Given the description of an element on the screen output the (x, y) to click on. 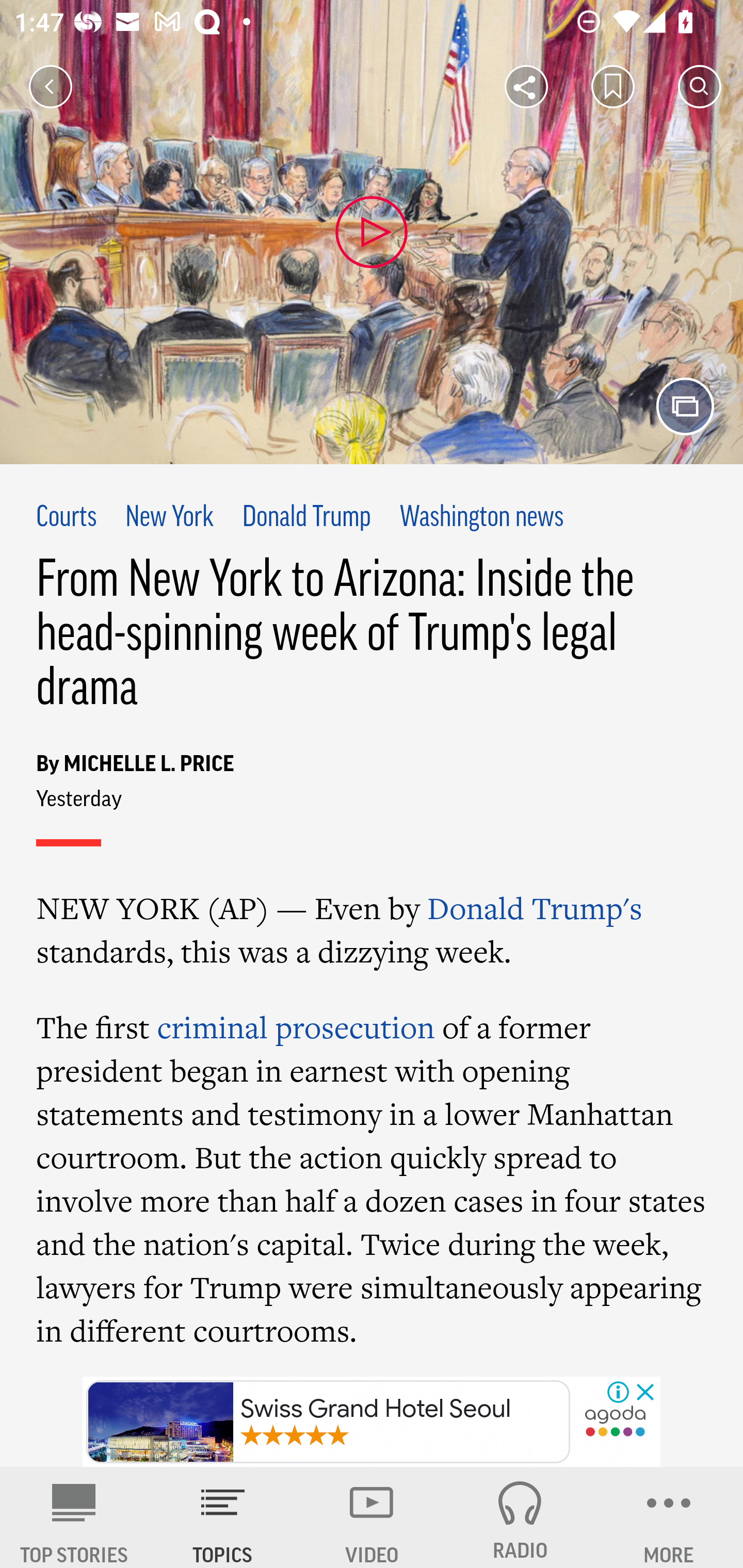
Courts (66, 518)
New York (169, 518)
Donald Trump (307, 518)
Washington news (481, 518)
Donald Trump's (534, 907)
criminal prosecution (294, 1026)
Swiss Grand Hotel Seoul (327, 1421)
partnersearch (615, 1422)
AP News TOP STORIES (74, 1517)
TOPICS (222, 1517)
VIDEO (371, 1517)
RADIO (519, 1517)
MORE (668, 1517)
